Given the description of an element on the screen output the (x, y) to click on. 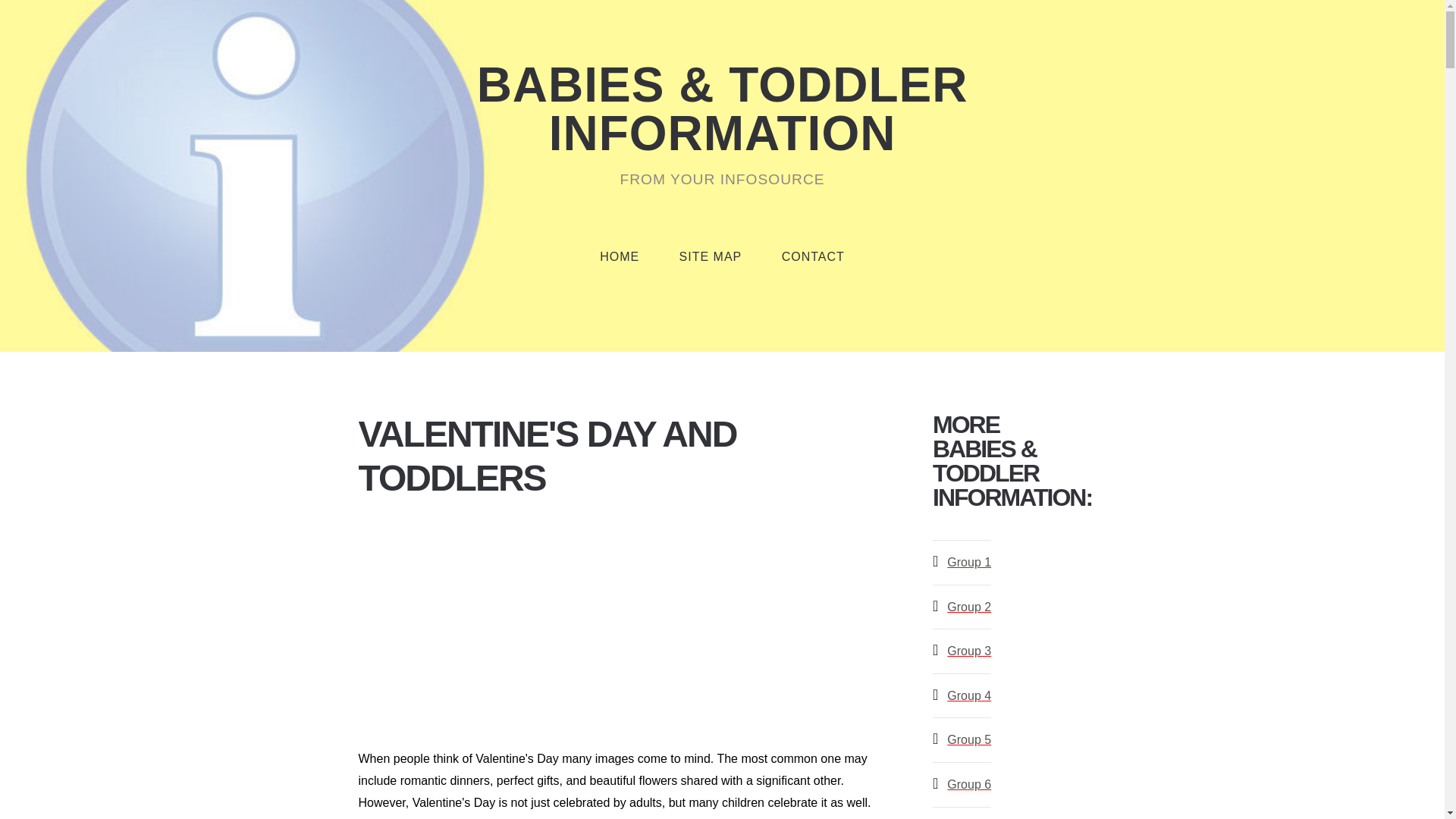
Group 4 (969, 695)
Group 5 (969, 739)
CONTACT (812, 257)
SITE MAP (710, 257)
Group 2 (969, 606)
Group 1 (969, 562)
Group 6 (969, 784)
Group 3 (969, 650)
Advertisement (626, 630)
HOME (619, 257)
